Given the description of an element on the screen output the (x, y) to click on. 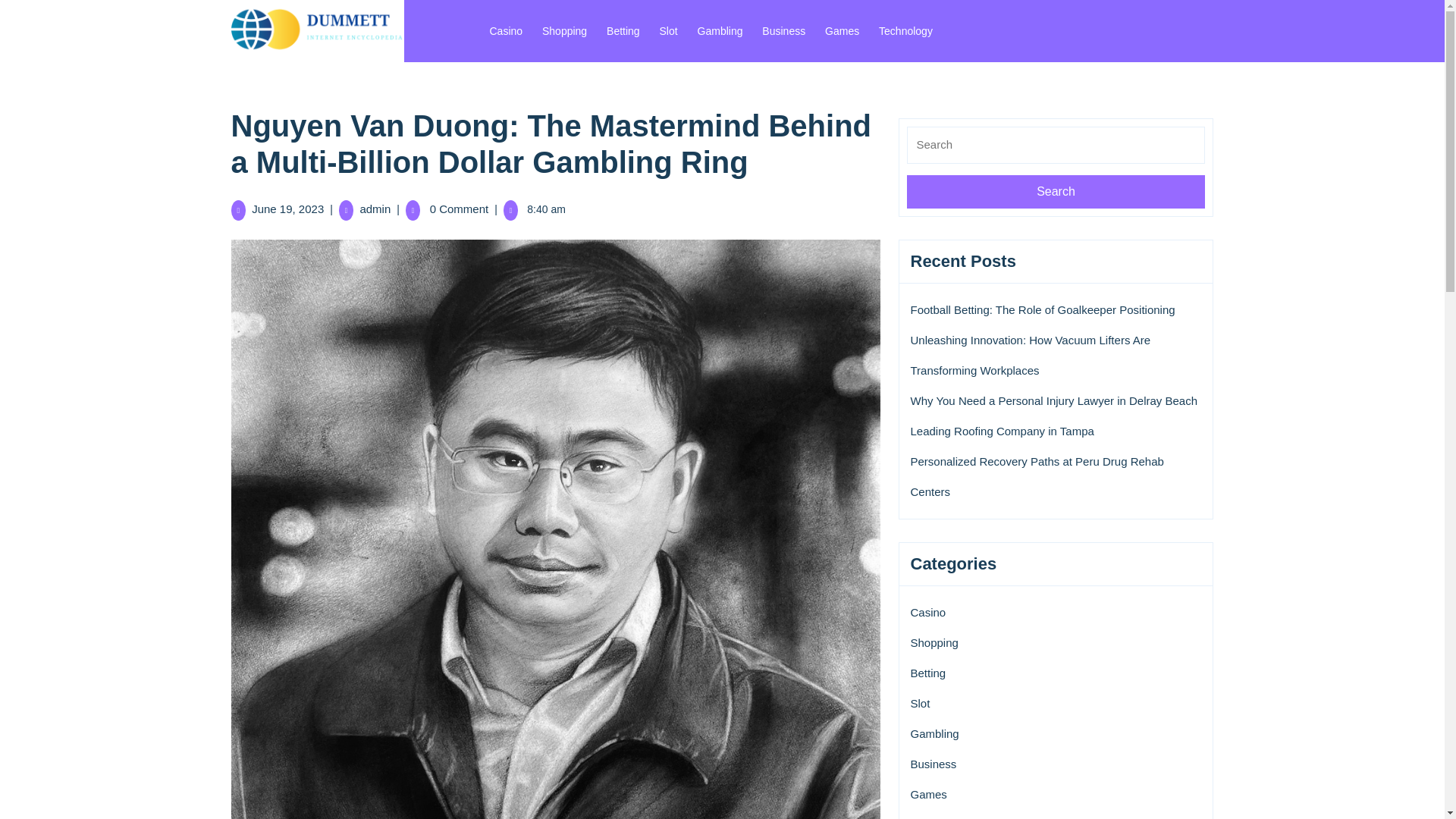
Shopping (934, 642)
Casino (927, 612)
Football Betting: The Role of Goalkeeper Positioning (1042, 309)
admin (374, 208)
Shopping (563, 30)
Games (842, 30)
Search (1056, 191)
Slot (668, 30)
Search (1056, 191)
